Given the description of an element on the screen output the (x, y) to click on. 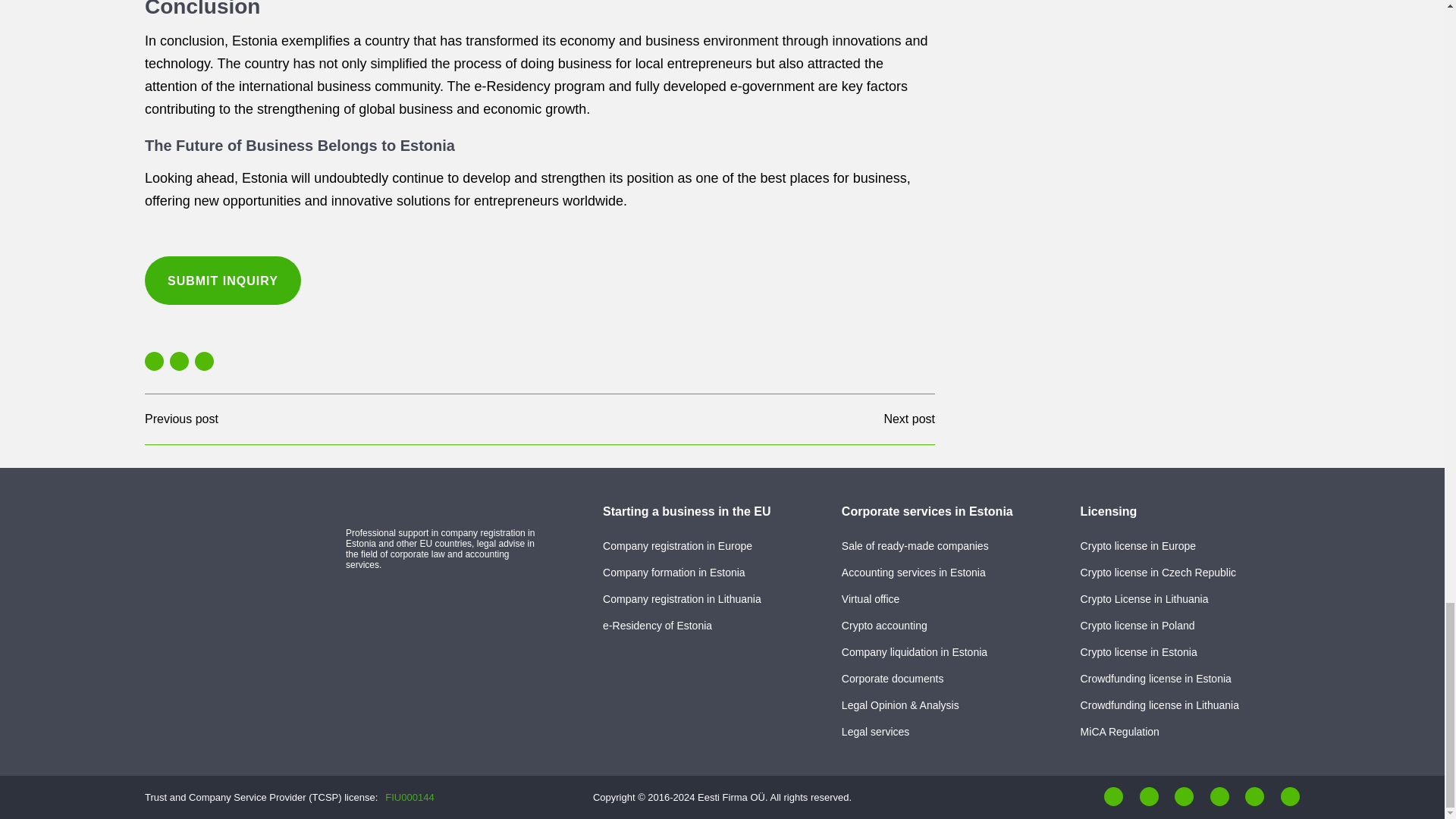
Previous post (181, 418)
Next post (908, 418)
SUBMIT INQUIRY (222, 280)
